Given the description of an element on the screen output the (x, y) to click on. 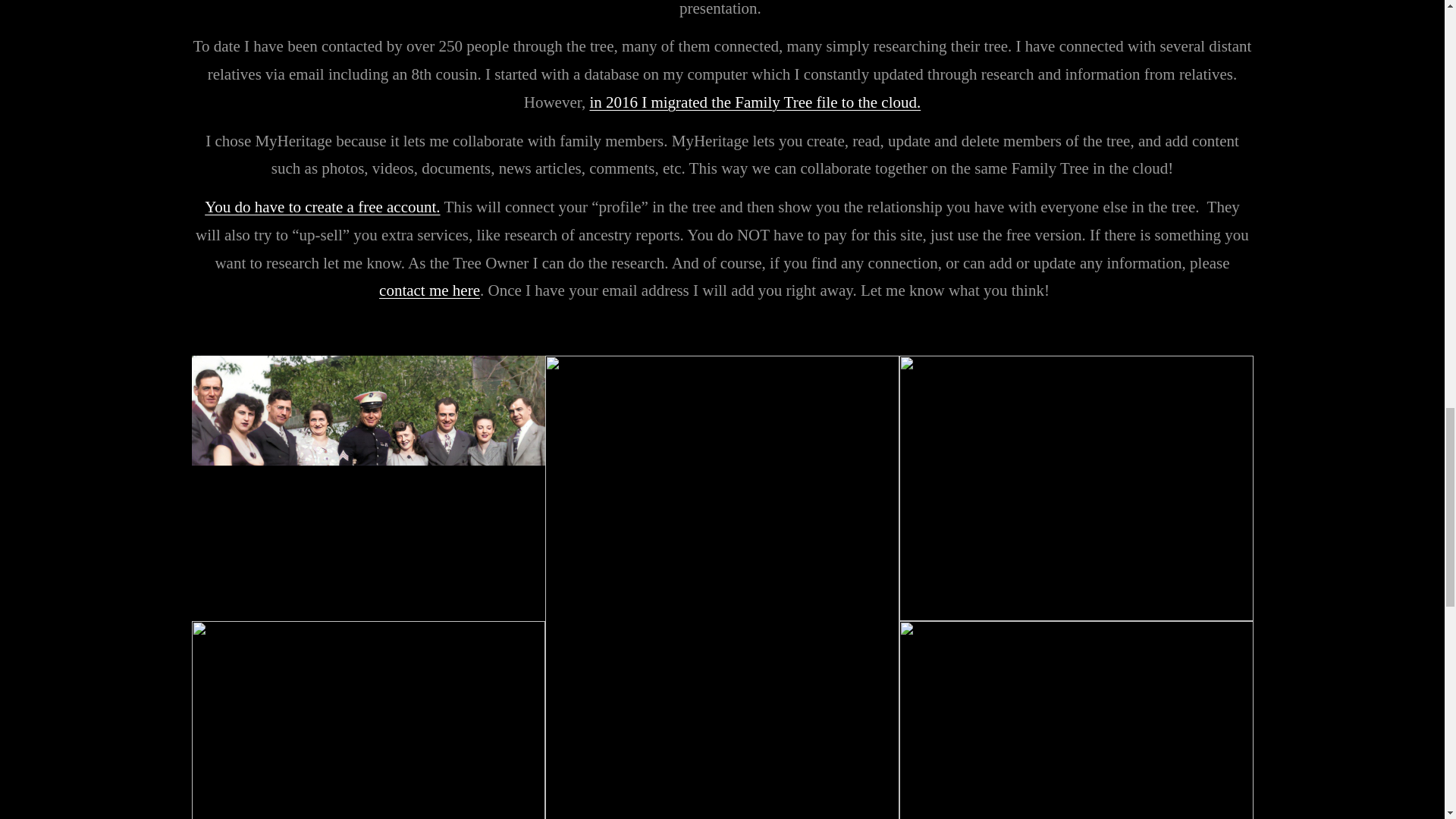
in 2016 I migrated the Family Tree file to the cloud. (754, 102)
You do have to create a free account. (322, 207)
contact me here (429, 290)
